Given the description of an element on the screen output the (x, y) to click on. 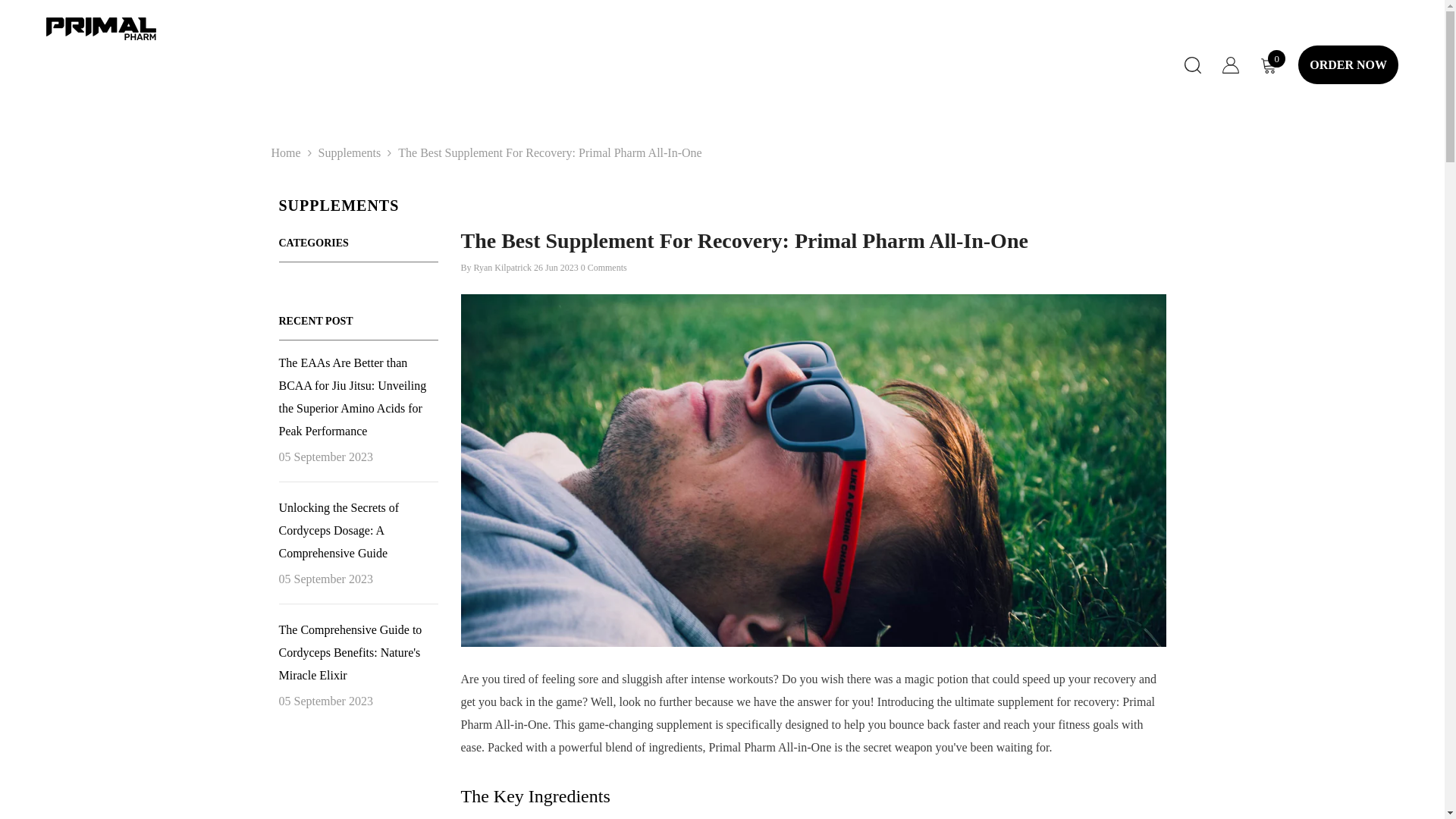
Supplements (349, 152)
Home (285, 152)
Log in (1231, 66)
0 Comments (603, 267)
ORDER NOW (1347, 64)
